Given the description of an element on the screen output the (x, y) to click on. 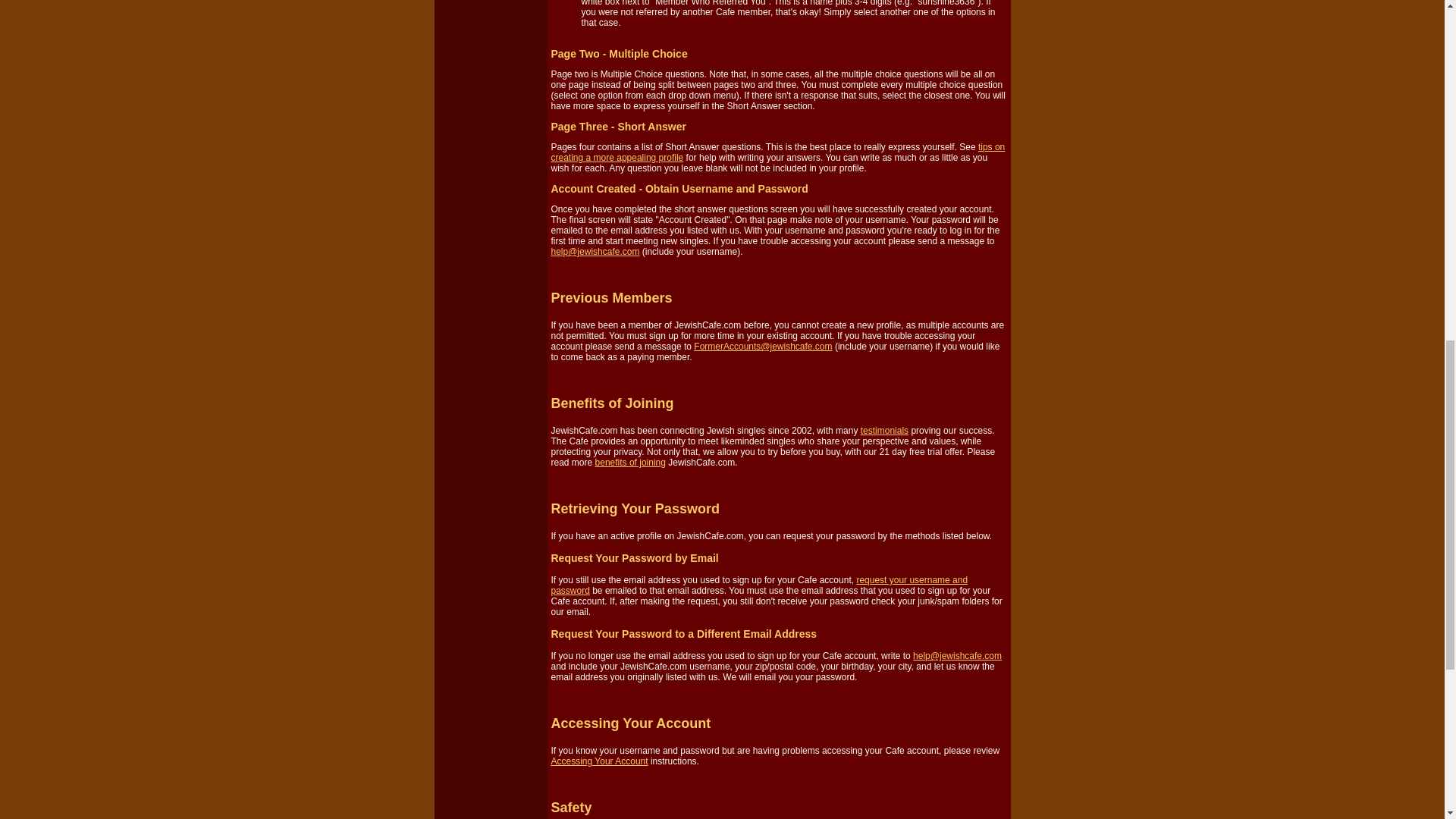
Accessing Your Account (598, 760)
tips on creating a more appealing profile (777, 151)
request your username and password (759, 585)
testimonials (884, 430)
benefits of joining (630, 462)
